Given the description of an element on the screen output the (x, y) to click on. 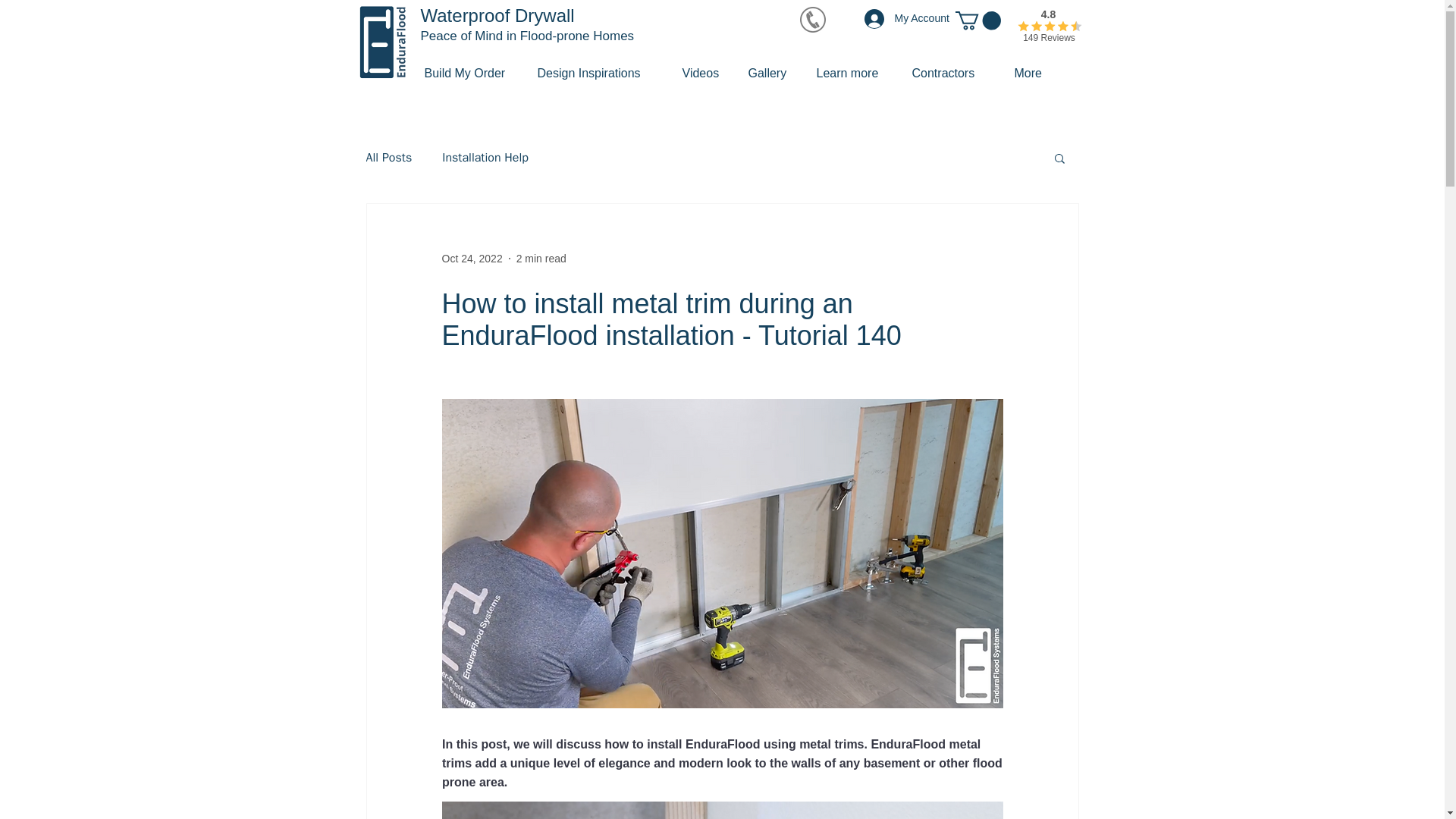
Gallery (770, 73)
Videos (702, 73)
Learn more (853, 73)
Design Inspirations (598, 73)
2 min read (541, 258)
149 Reviews (1049, 37)
Oct 24, 2022 (471, 258)
All Posts (388, 157)
Build My Order (468, 73)
Installation Help (485, 157)
